Given the description of an element on the screen output the (x, y) to click on. 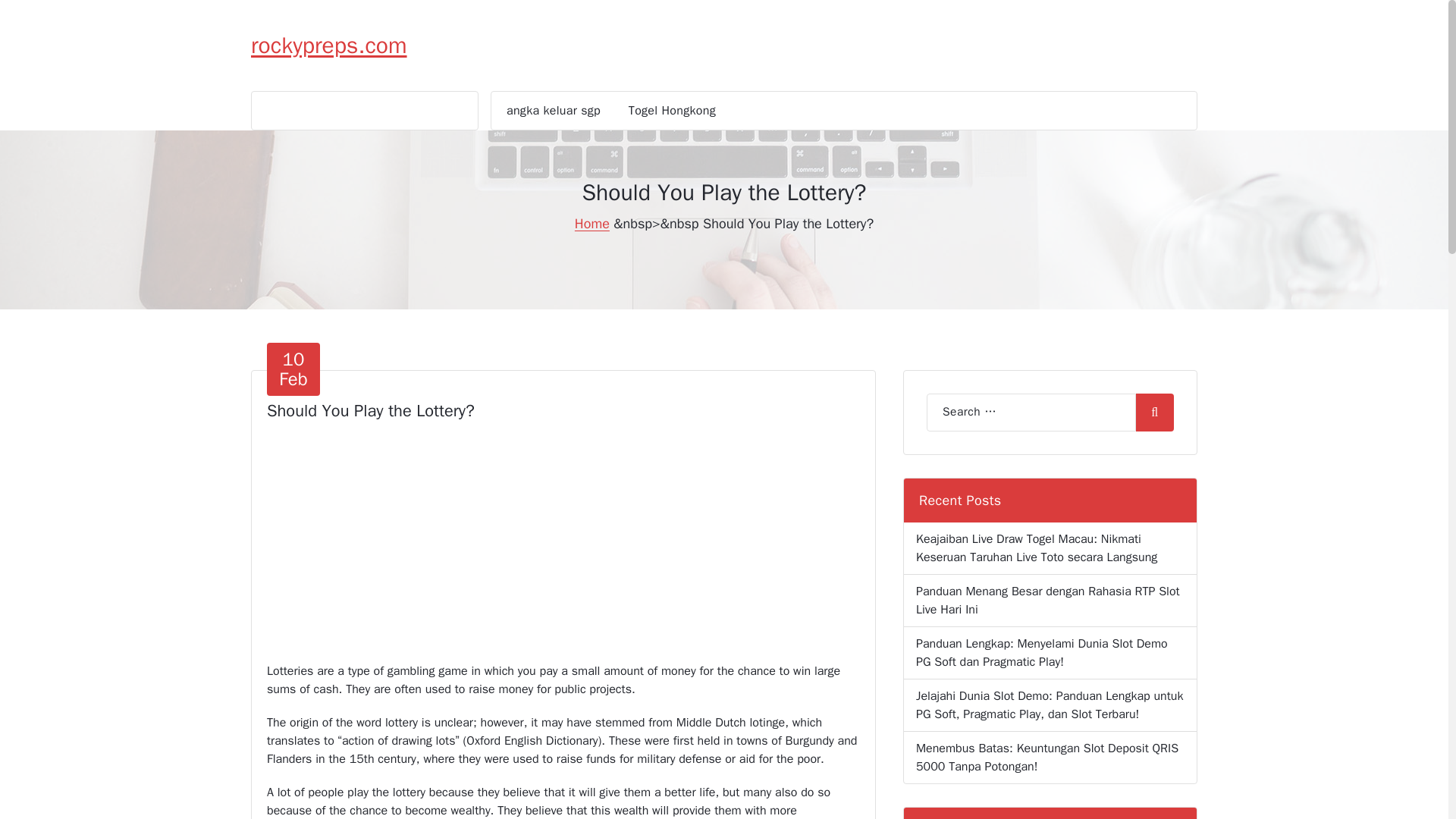
Togel Hongkong (672, 110)
Search (293, 369)
rockypreps.com (1154, 412)
Home (328, 44)
angka keluar sgp (592, 223)
Panduan Menang Besar dengan Rahasia RTP Slot Live Hari Ini (552, 110)
angka keluar sgp (1050, 600)
